Given the description of an element on the screen output the (x, y) to click on. 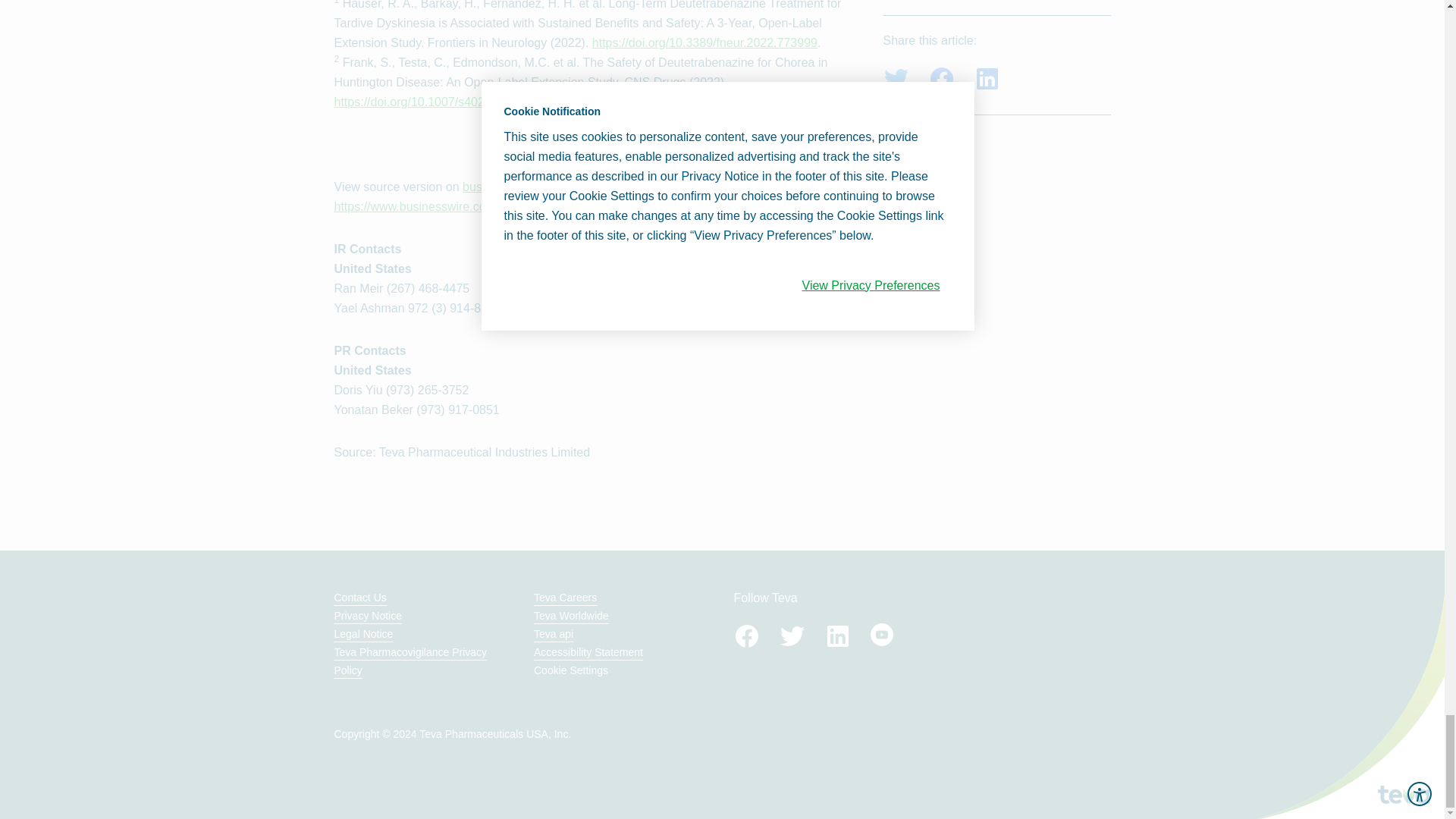
Follow us (791, 636)
Follow us (881, 634)
Follow us (746, 636)
Follow us (837, 636)
